Given the description of an element on the screen output the (x, y) to click on. 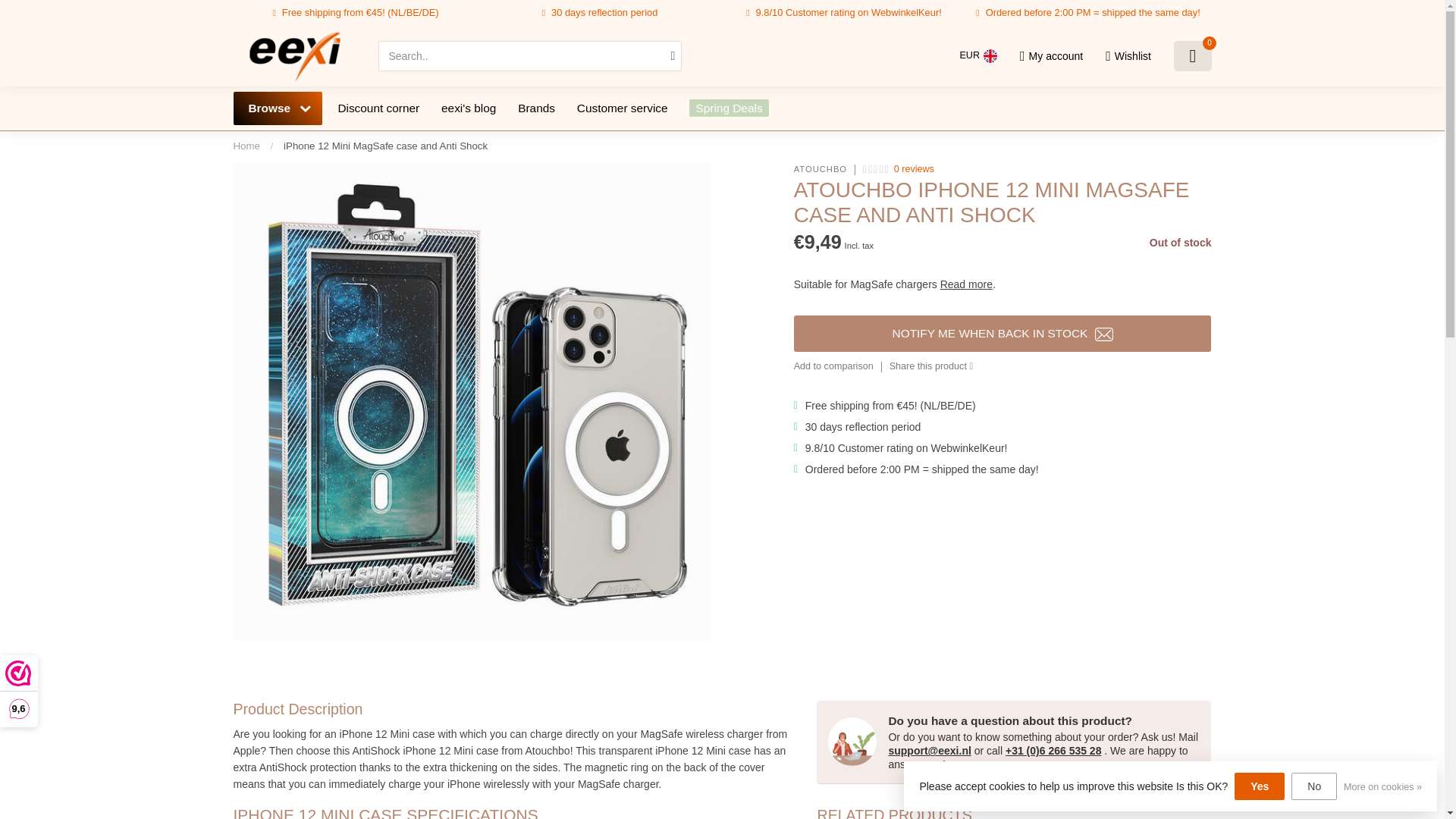
Wishlist (1128, 55)
0 (1192, 55)
My account (1051, 55)
Home (246, 145)
Wishlist (1128, 55)
1 (1060, 244)
